Given the description of an element on the screen output the (x, y) to click on. 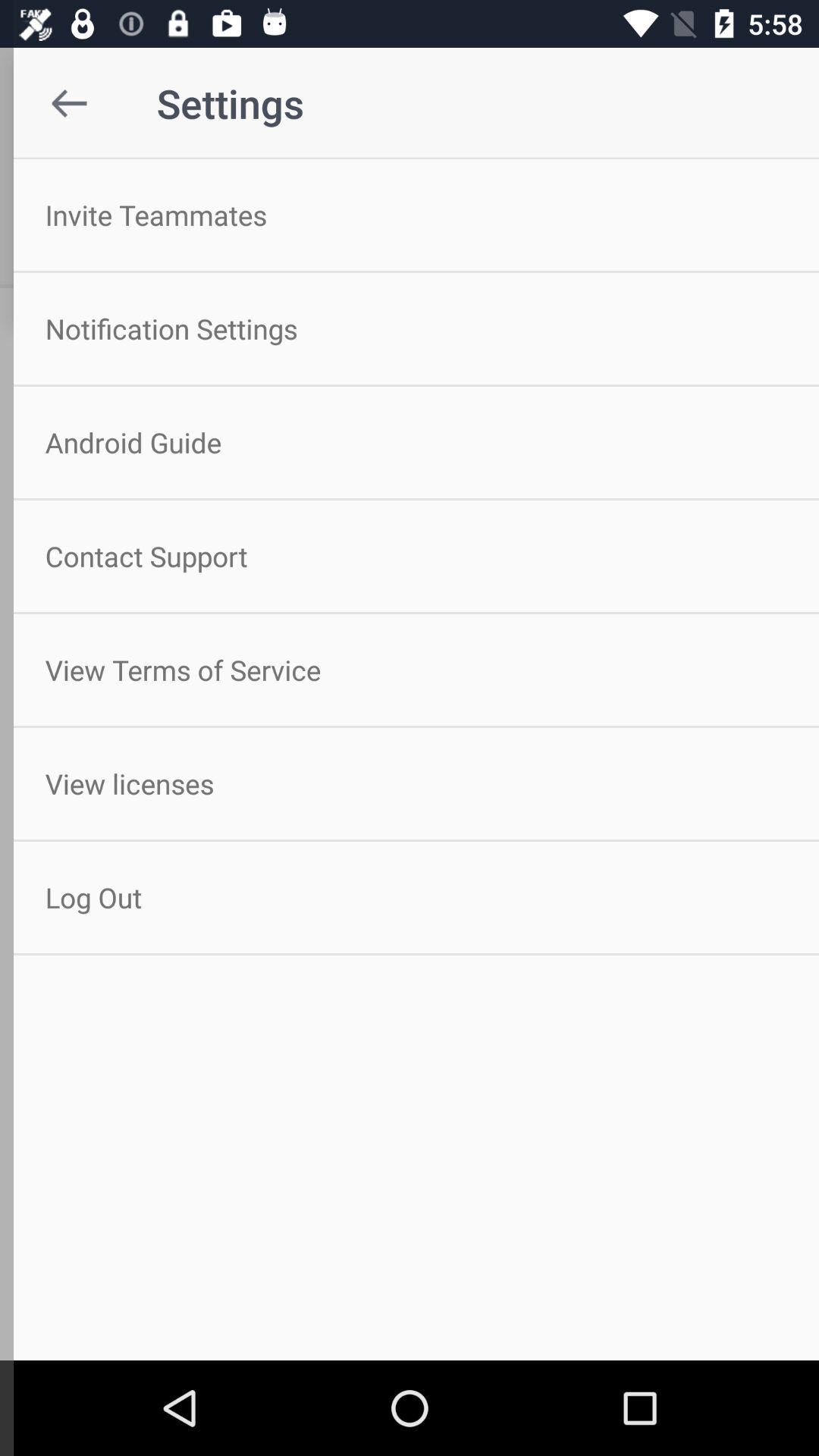
click the icon below invite teammates item (409, 328)
